Given the description of an element on the screen output the (x, y) to click on. 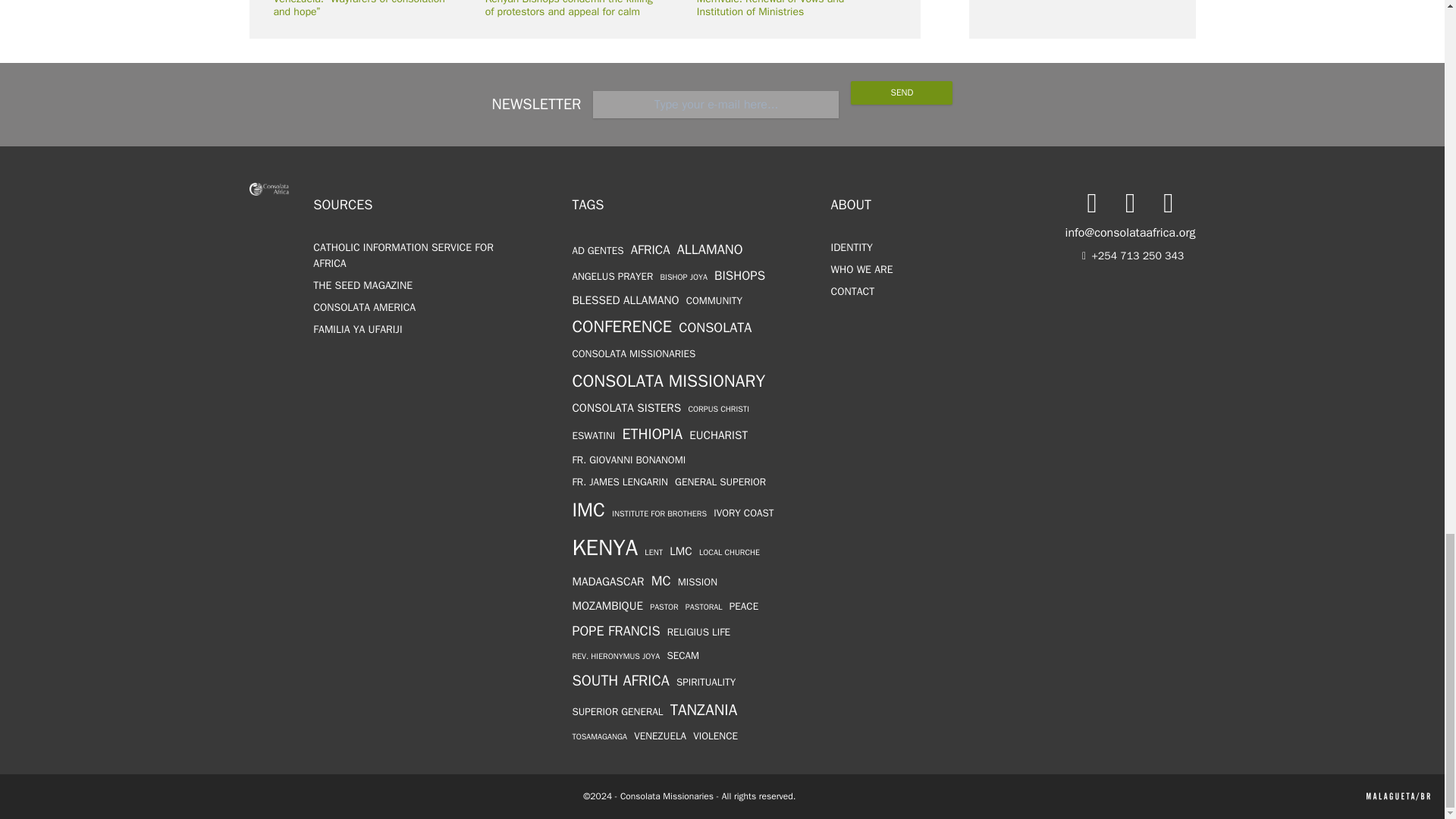
Send (901, 92)
